Given the description of an element on the screen output the (x, y) to click on. 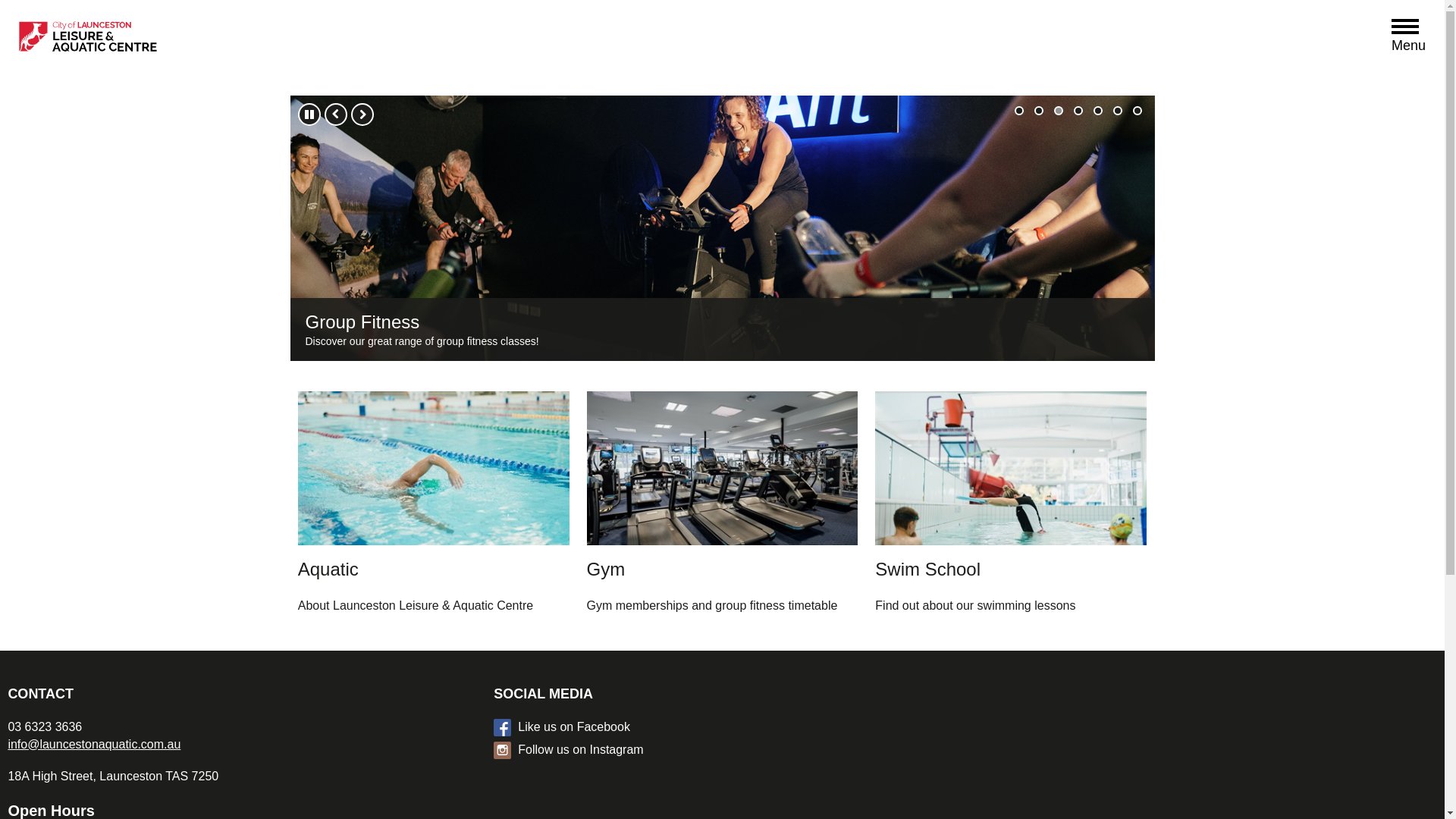
Gym
Gym memberships and group fitness timetable Element type: text (722, 505)
Celebrate with us! Element type: text (1077, 110)
Learn to Swim Element type: text (1096, 110)
Open
Menu
below search button Element type: text (1408, 28)
Swim School
Find out about our swimming lessons Element type: text (1010, 505)
Personal Training Element type: text (1037, 110)
Group Fitness Element type: text (1057, 110)
info@launcestonaquatic.com.au Element type: text (93, 743)
Home - Launceston Leisure & Aquatic Centre - Logo Element type: text (151, 39)
Next Element type: text (361, 114)
Pause Element type: text (308, 114)
Recreational Facilities Element type: text (1116, 110)
Get in touch! Element type: text (1136, 110)
Aquatic
About Launceston Leisure & Aquatic Centre Element type: text (433, 505)
Personal Training
Sign up for Personal Training at LAfit! Element type: text (721, 227)
Learn to Swim Holiday Program Element type: text (1018, 110)
Follow us on Instagram Element type: text (733, 749)
Like us on Facebook Element type: text (733, 726)
Previous Element type: text (335, 114)
